Given the description of an element on the screen output the (x, y) to click on. 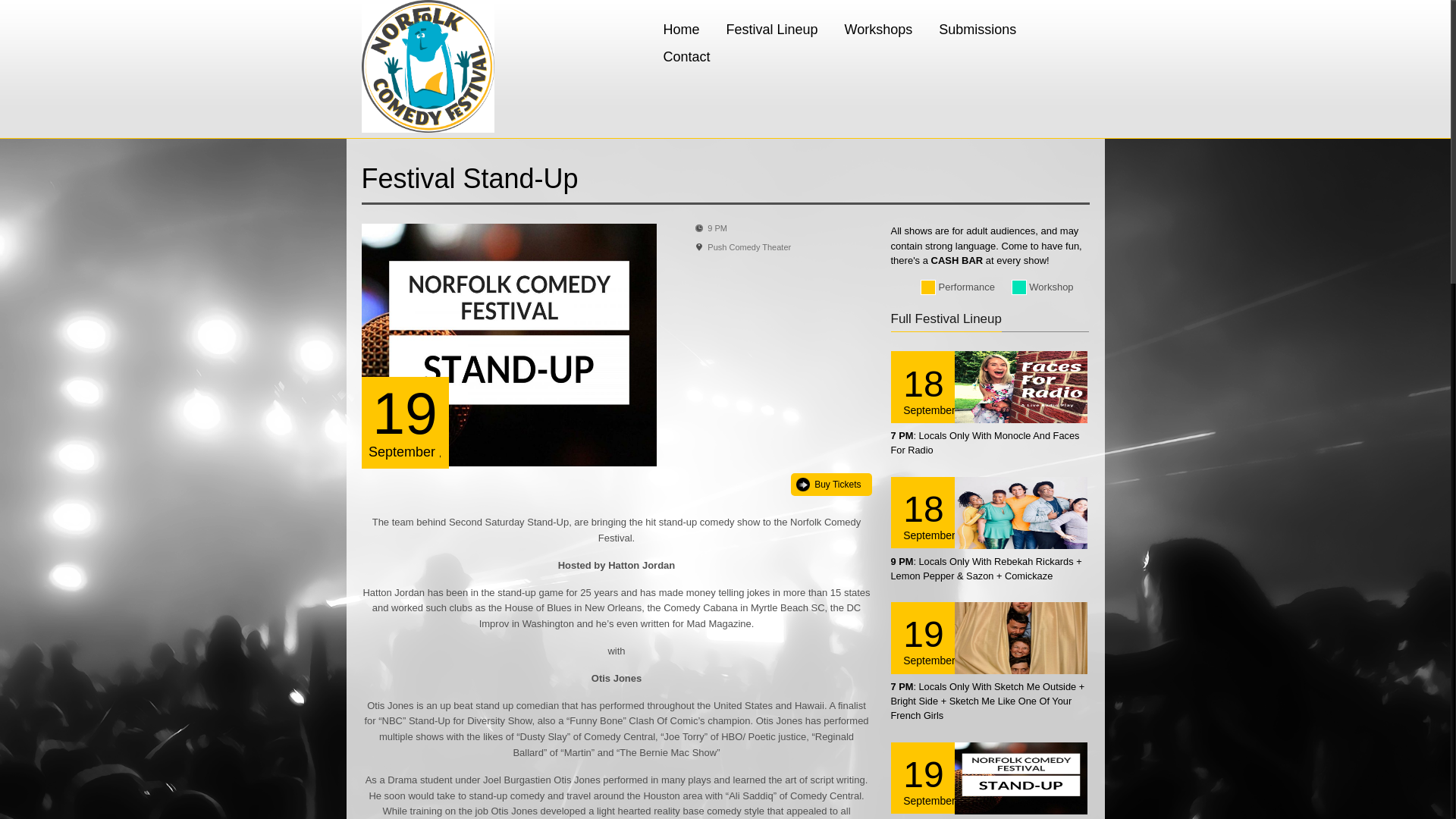
Home (681, 29)
Contact (686, 56)
7 PM: Locals Only With Monocle And Faces For Radio (983, 442)
Submissions (977, 29)
Workshops (878, 29)
Buy Tickets (830, 484)
Festival Lineup (772, 29)
